Given the description of an element on the screen output the (x, y) to click on. 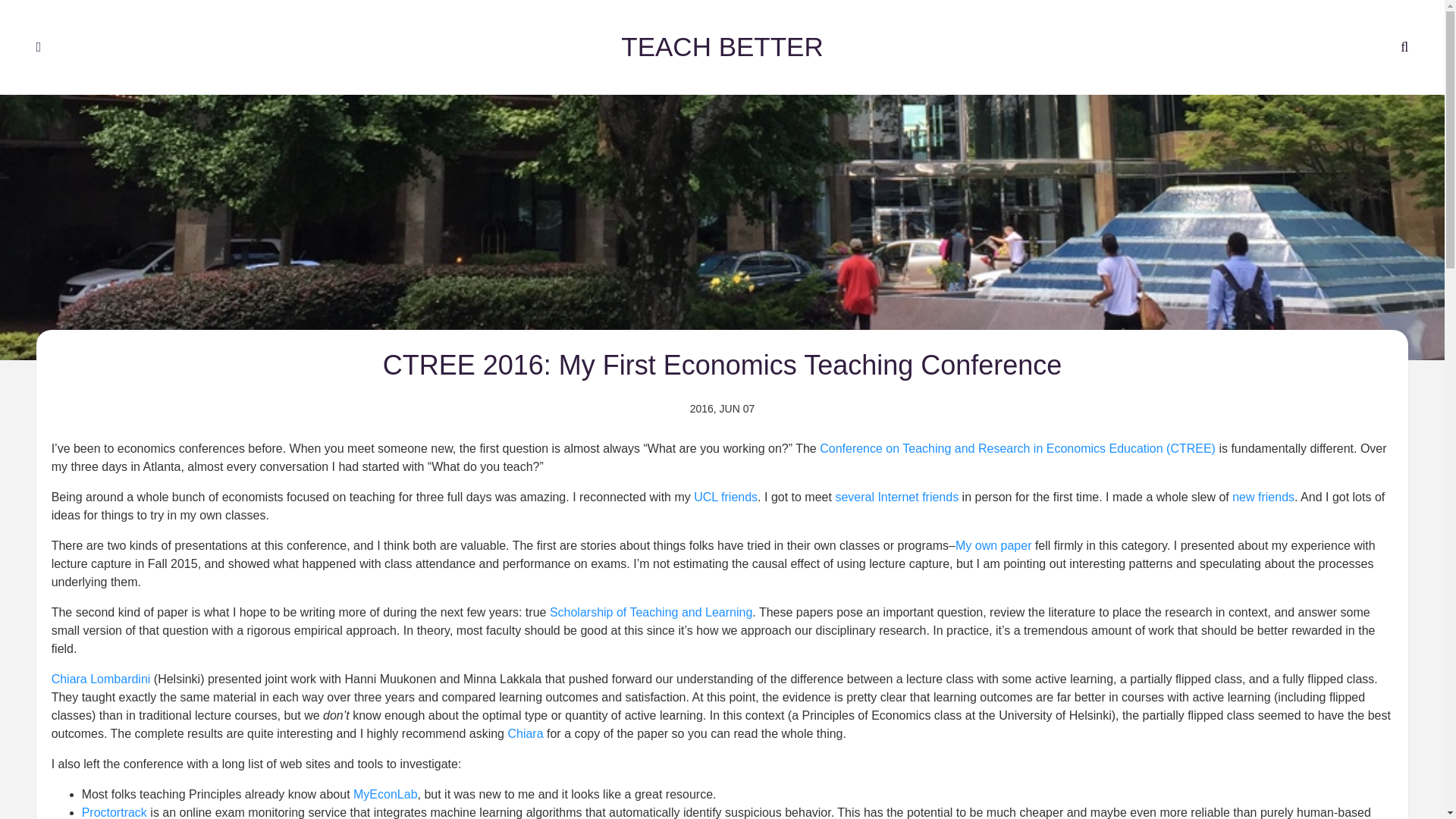
Chiara (524, 719)
Scholarship of Teaching and Learning (651, 596)
MyEconLab (385, 781)
Proctortrack (114, 802)
Chiara Lombardini (100, 664)
